Given the description of an element on the screen output the (x, y) to click on. 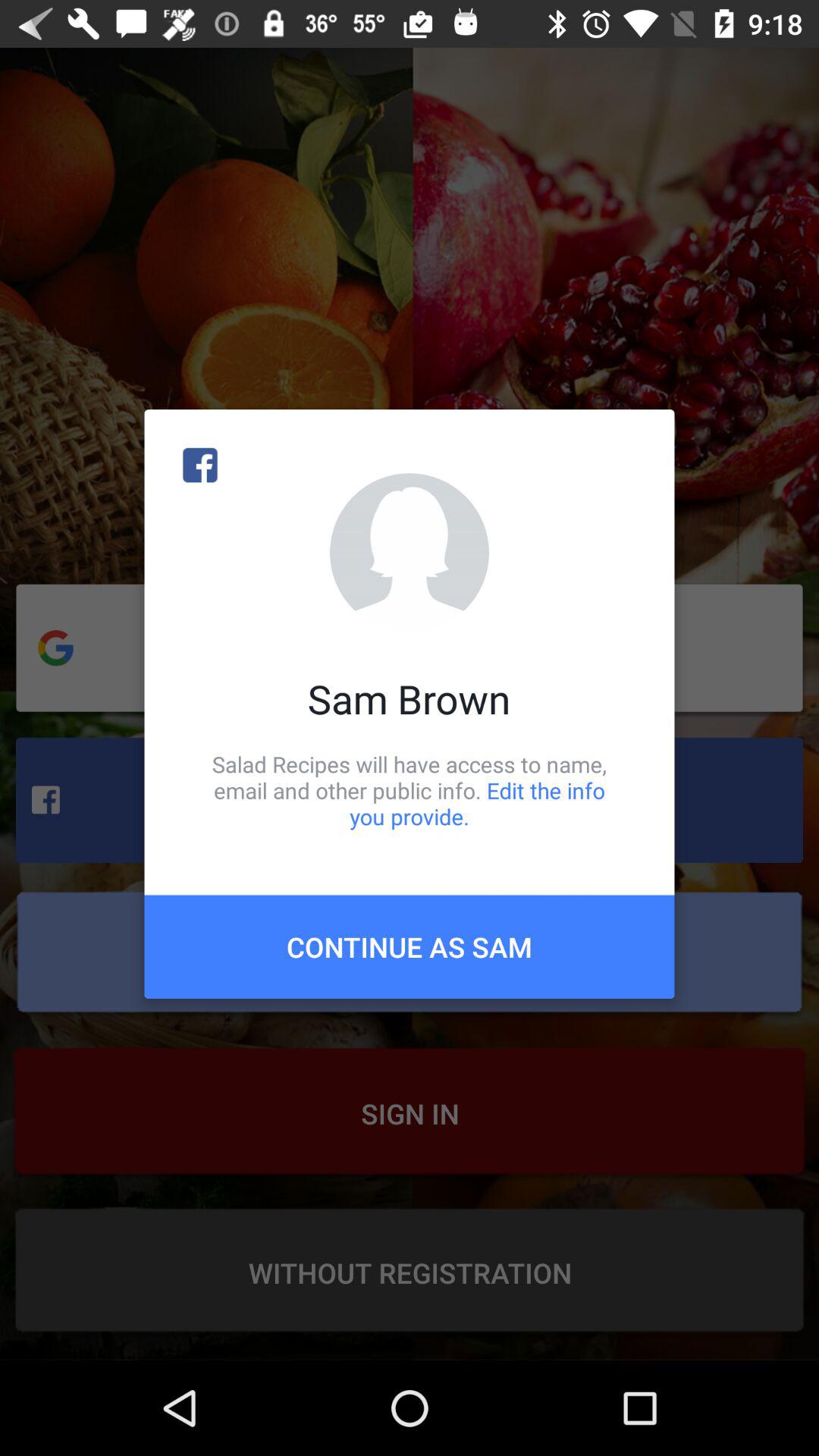
launch salad recipes will icon (409, 790)
